Given the description of an element on the screen output the (x, y) to click on. 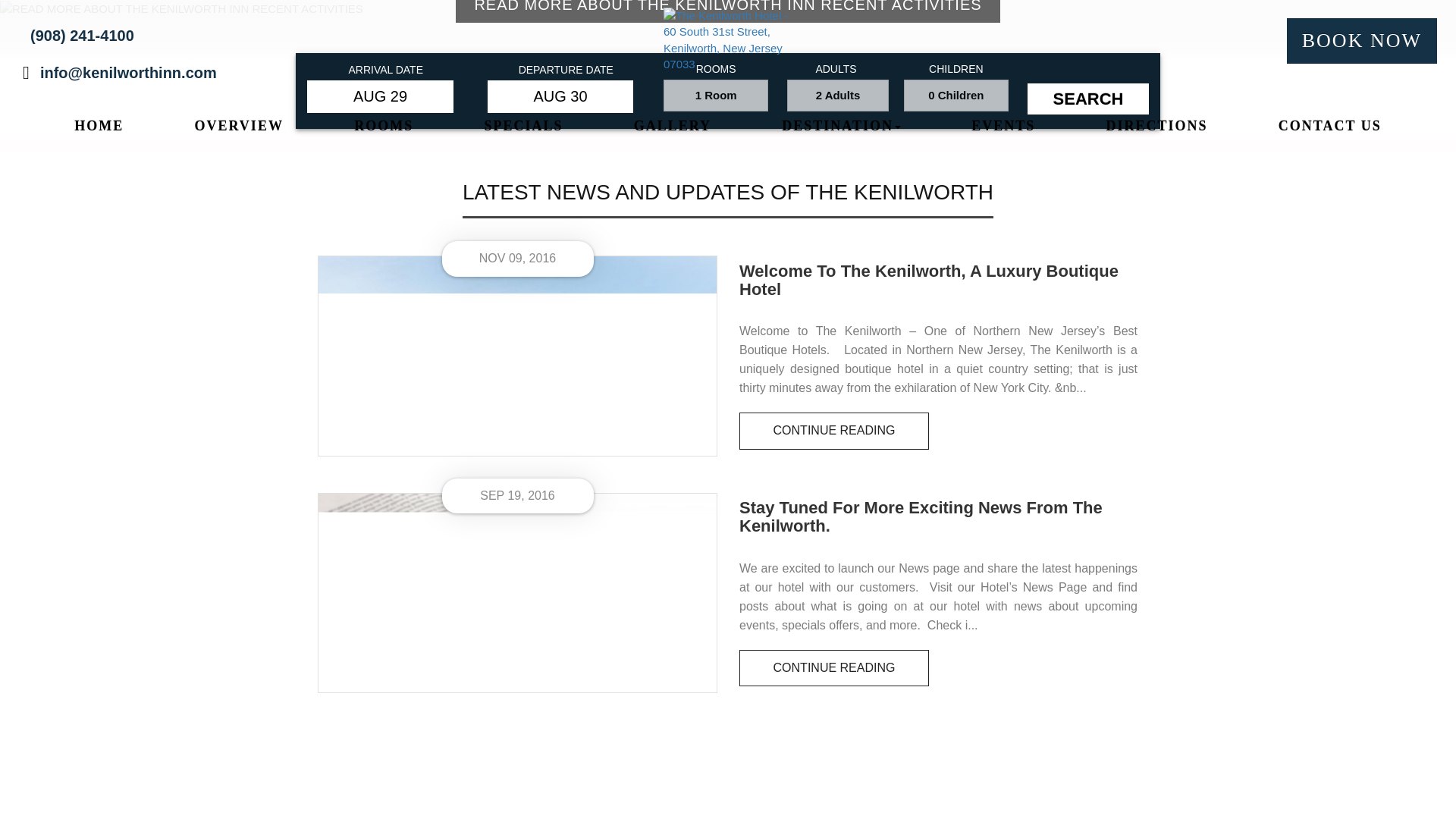
BOOK NOW (1362, 40)
GALLERY (672, 127)
 Book Now (1362, 40)
CONTACT US (1330, 127)
Email (128, 72)
Rooms (383, 127)
ROOMS (383, 127)
Destination (841, 125)
Specials (523, 127)
HOME (98, 127)
